Given the description of an element on the screen output the (x, y) to click on. 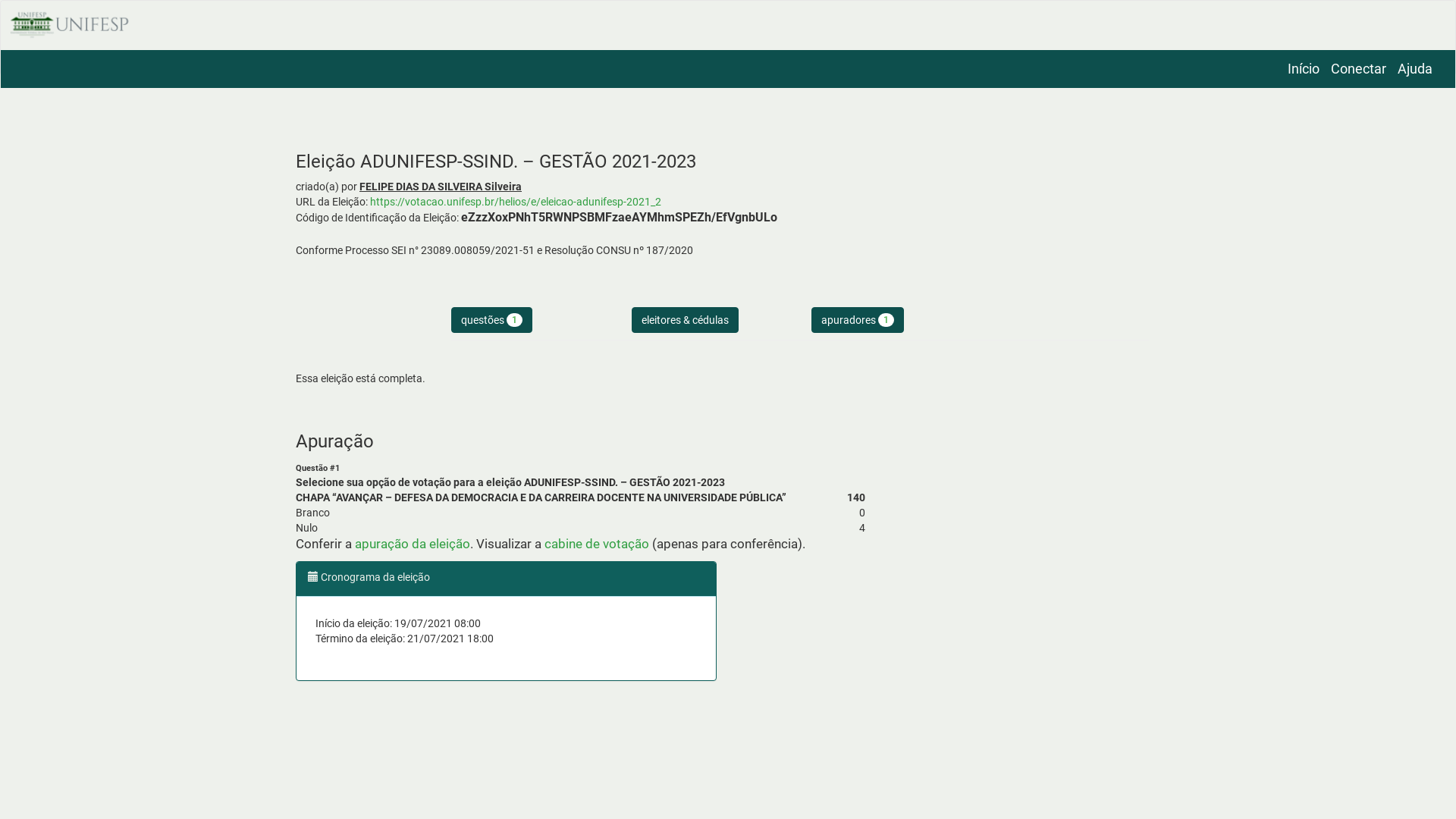
Conectar Element type: text (1358, 68)
Ajuda Element type: text (1414, 68)
apuradores 1 Element type: text (857, 319)
https://votacao.unifesp.br/helios/e/eleicao-adunifesp-2021_2 Element type: text (515, 201)
site UNIFESP Element type: hover (727, 25)
